Given the description of an element on the screen output the (x, y) to click on. 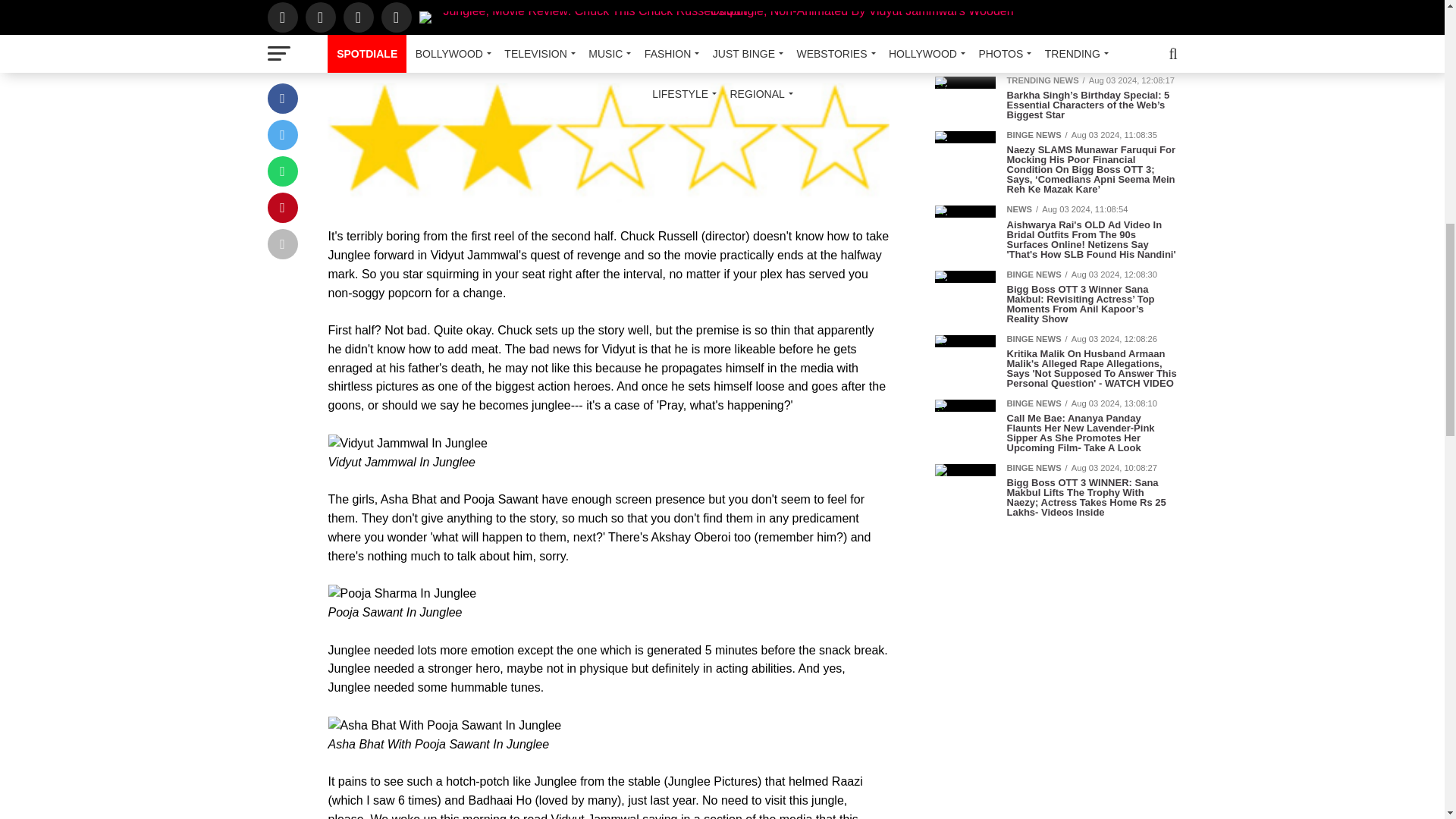
junglee movie review (607, 137)
Asha Bhat With Pooja Sawant In Junglee (443, 725)
Pooja Sharma In Junglee (401, 593)
Vidyut Jammwal In Junglee (406, 443)
